Given the description of an element on the screen output the (x, y) to click on. 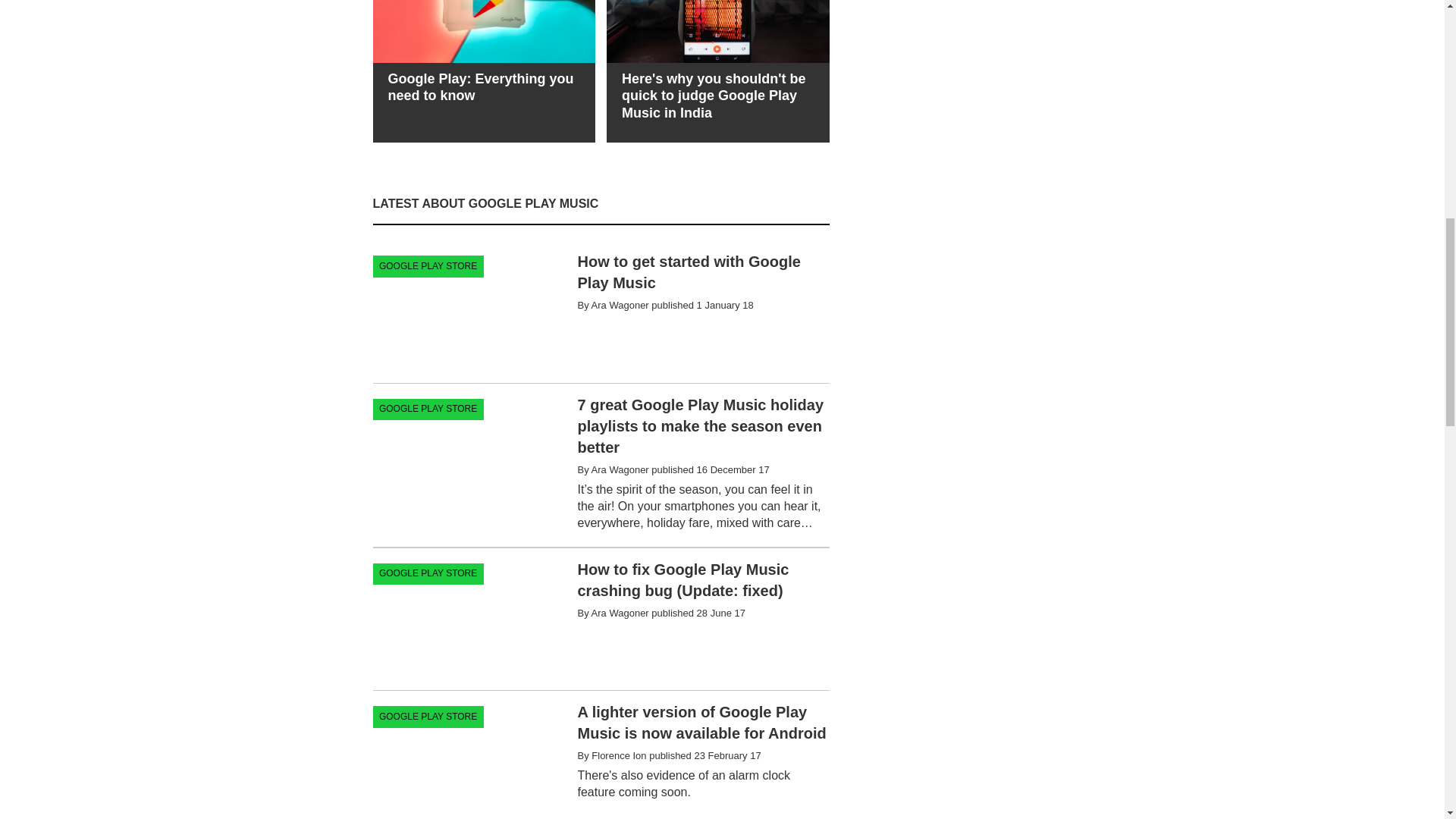
Google Play: Everything you need to know (483, 56)
